Given the description of an element on the screen output the (x, y) to click on. 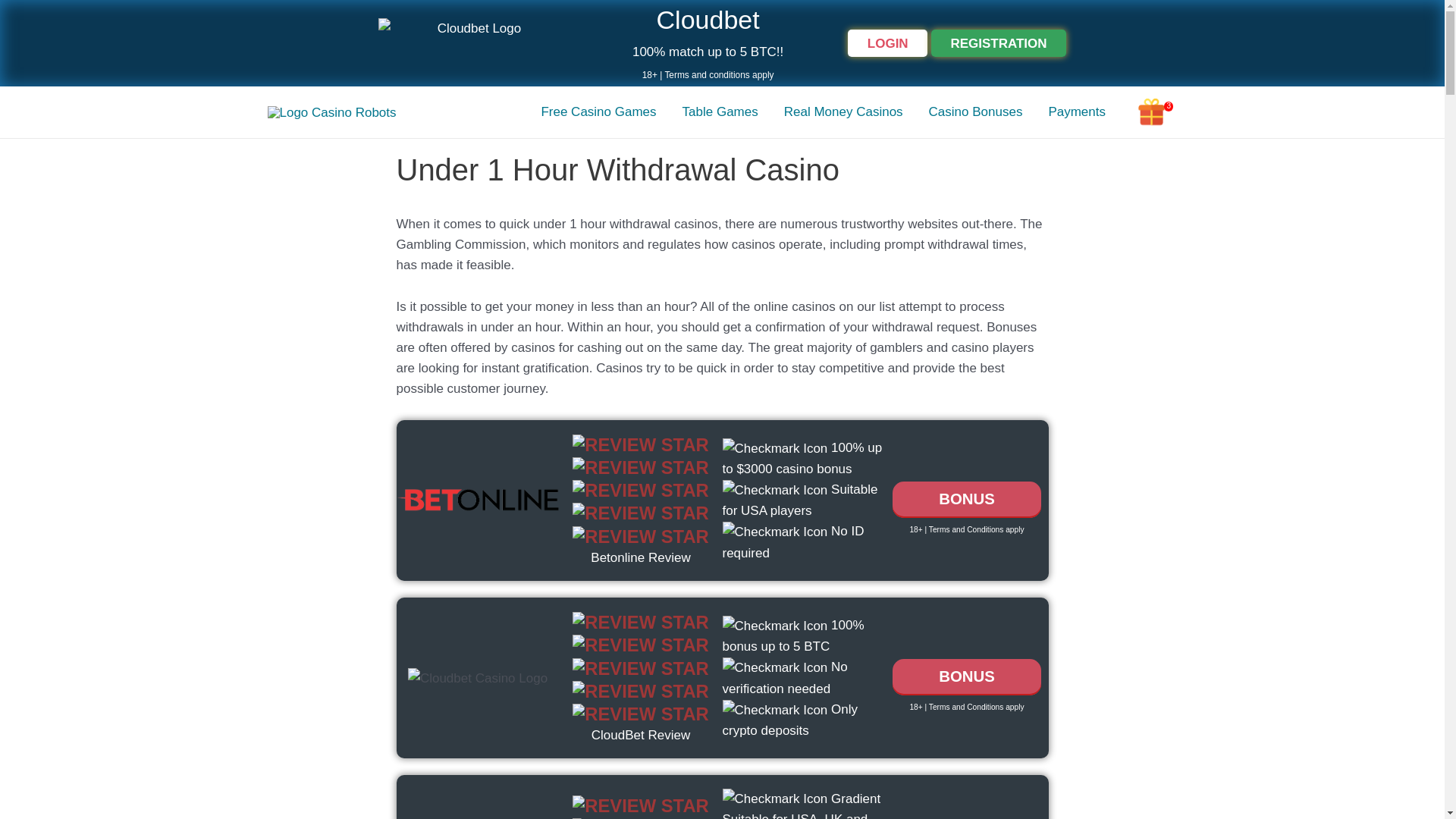
Real Money Casinos (843, 112)
BONUS (966, 499)
Casino Bonuses (975, 112)
CloudBet Review (640, 735)
Free Casino Games (597, 112)
Table Games (720, 112)
Betonline Review (640, 557)
BONUS (966, 677)
Payments (1076, 112)
